Given the description of an element on the screen output the (x, y) to click on. 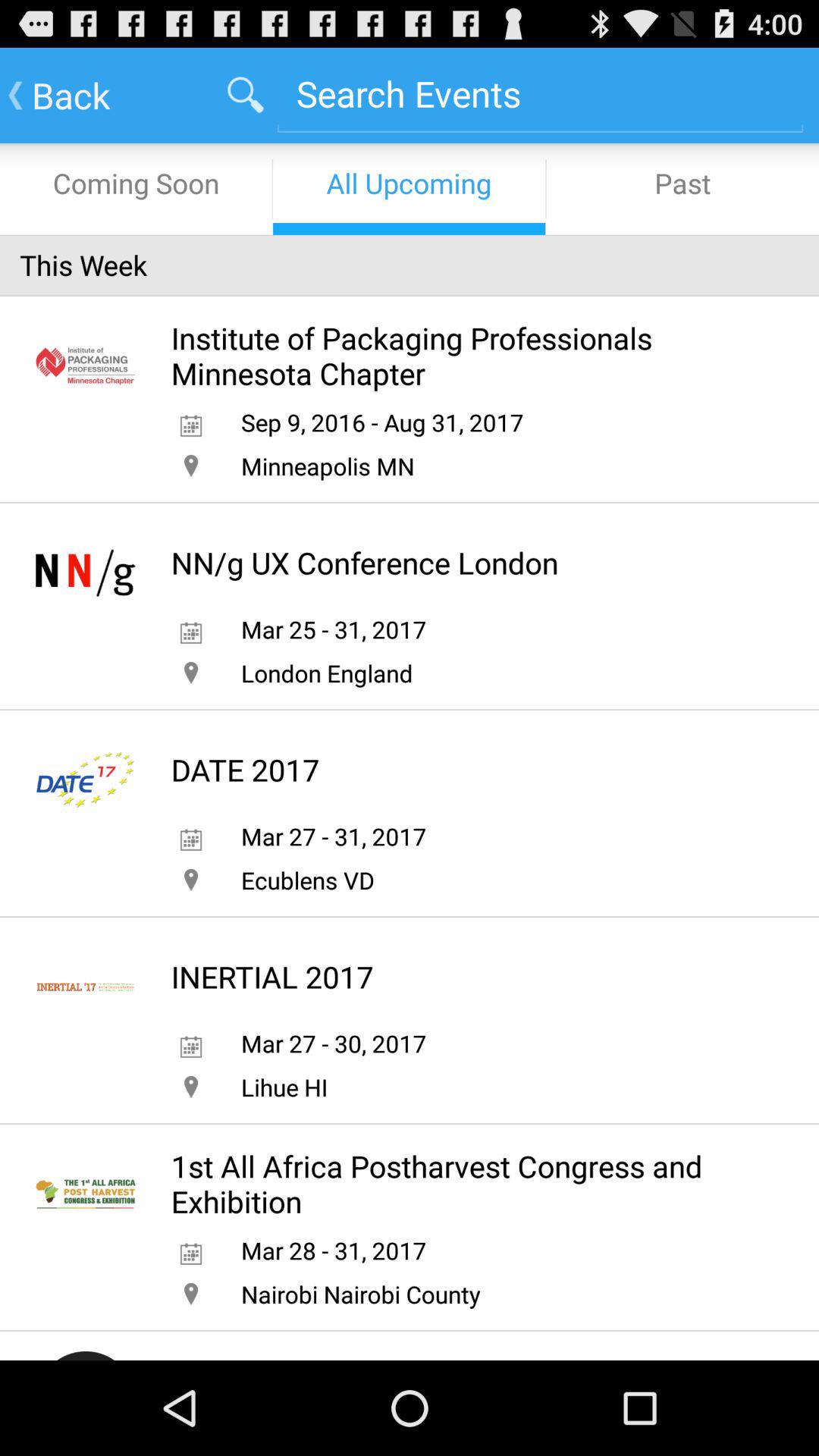
launch item below ecublens vd (272, 976)
